Given the description of an element on the screen output the (x, y) to click on. 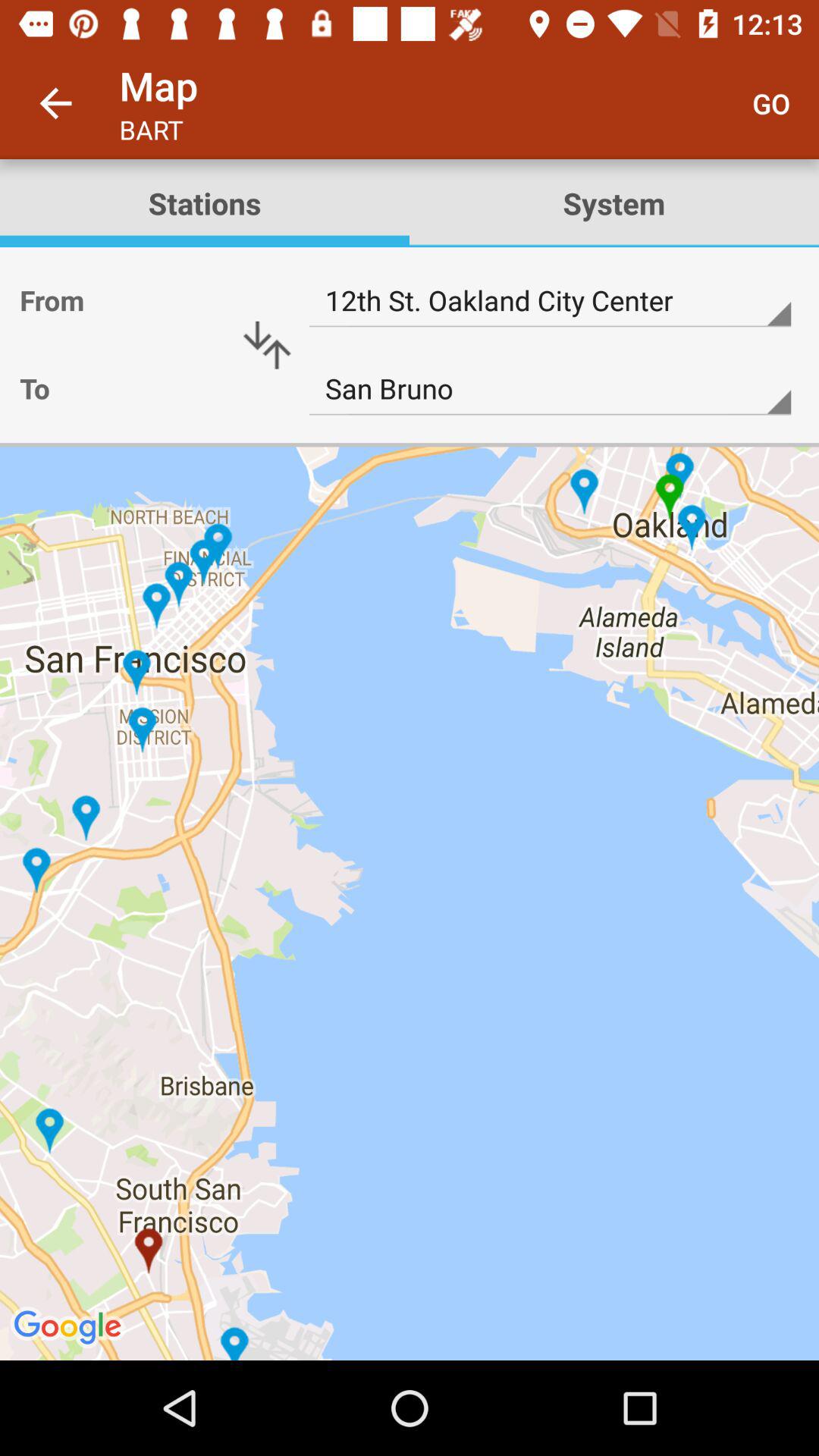
up or down arrow (267, 345)
